Given the description of an element on the screen output the (x, y) to click on. 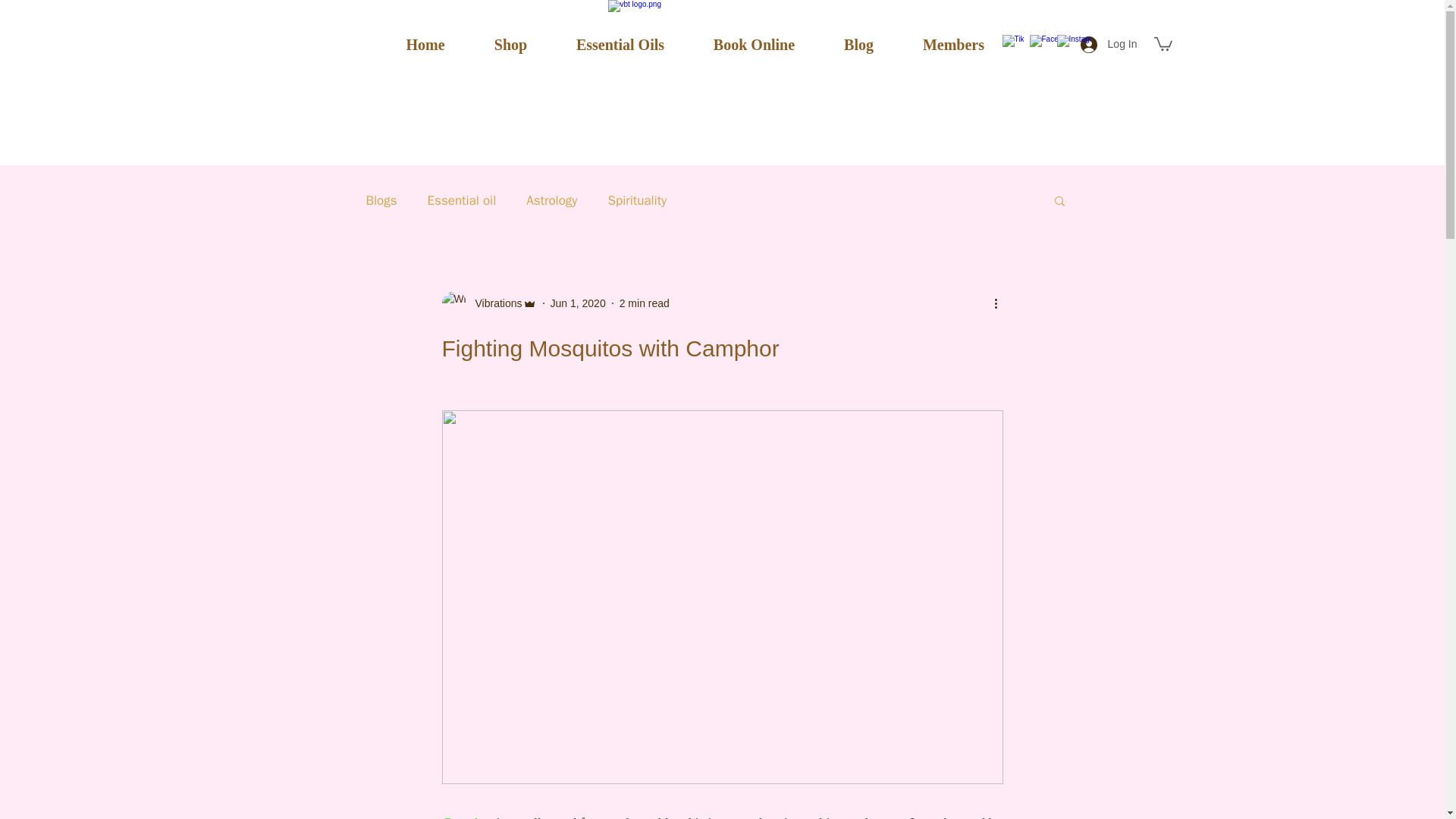
Jun 1, 2020 (577, 303)
Members (953, 44)
Blog (858, 44)
Home (424, 44)
Book Online (753, 44)
Vibrations (488, 303)
Essential Oils (619, 44)
2 min read (644, 303)
Log In (1109, 44)
Blogs (380, 199)
